Given the description of an element on the screen output the (x, y) to click on. 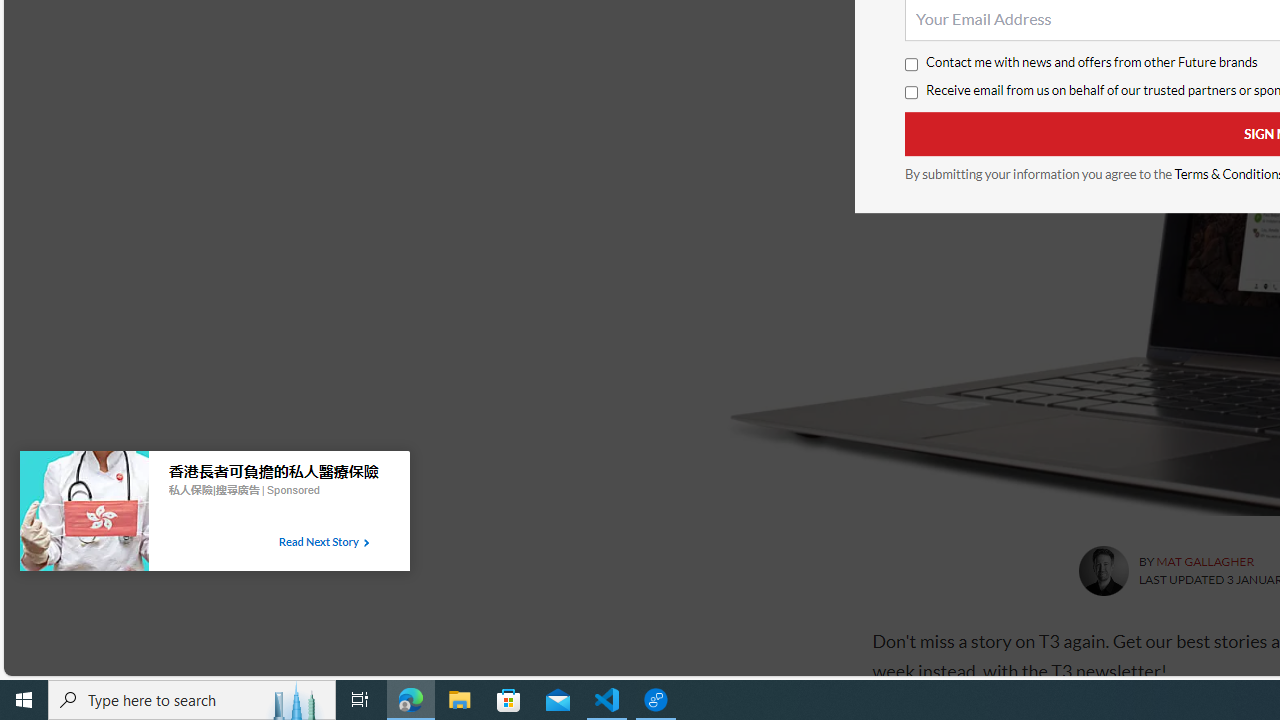
Contact me with news and offers from other Future brands (910, 65)
Class: tbl-arrow-icon arrow-2 (366, 543)
MAT GALLAGHER (1204, 561)
Image for Taboola Advertising Unit (84, 515)
Image for Taboola Advertising Unit (84, 515)
Mat Gallagher (1102, 570)
Class: tbl-arrow-icon arrow-1 (366, 543)
